Given the description of an element on the screen output the (x, y) to click on. 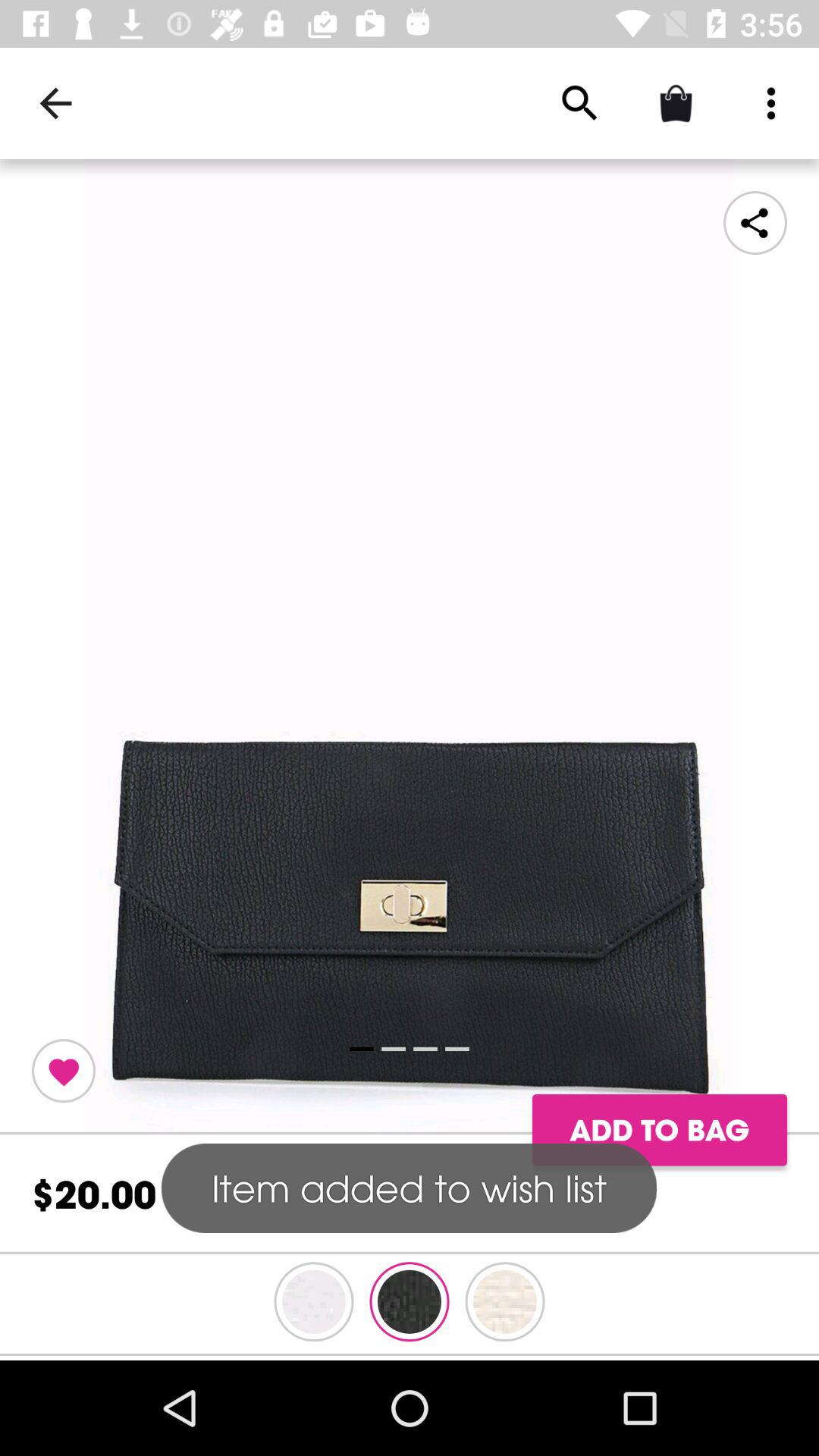
enlarge picture (409, 646)
